Given the description of an element on the screen output the (x, y) to click on. 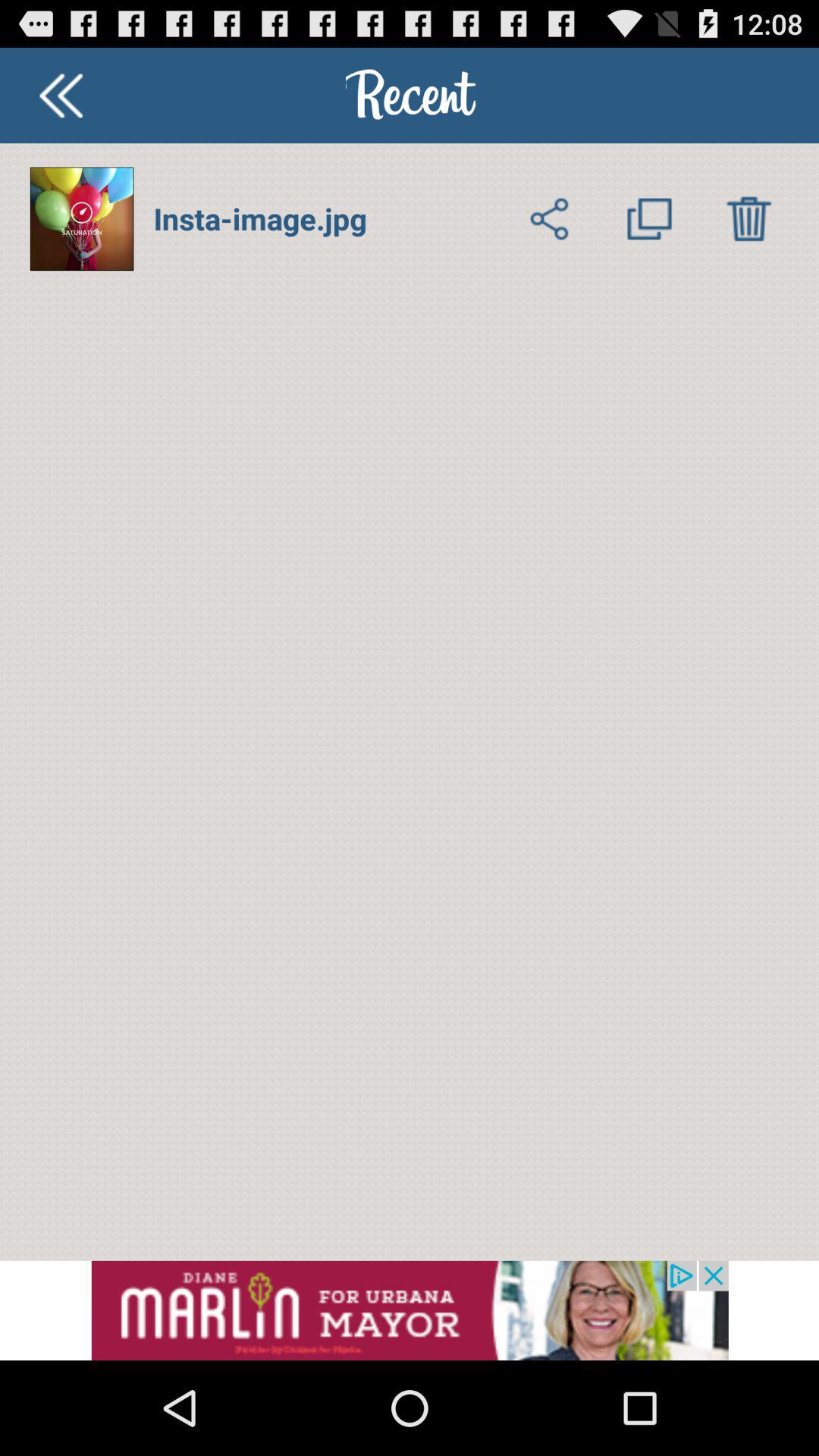
press back arrow (61, 95)
